Given the description of an element on the screen output the (x, y) to click on. 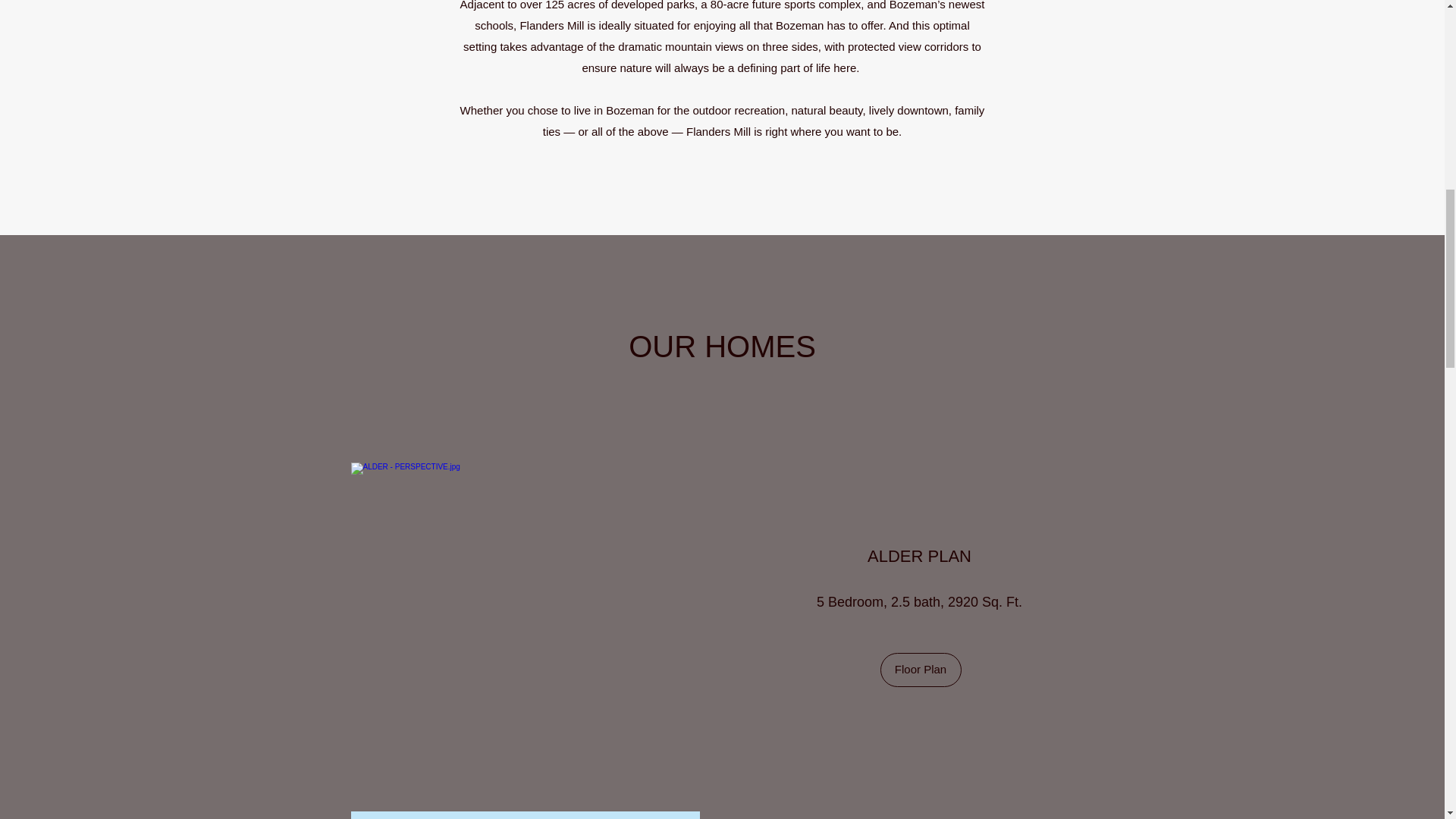
Floor Plan (919, 669)
